Given the description of an element on the screen output the (x, y) to click on. 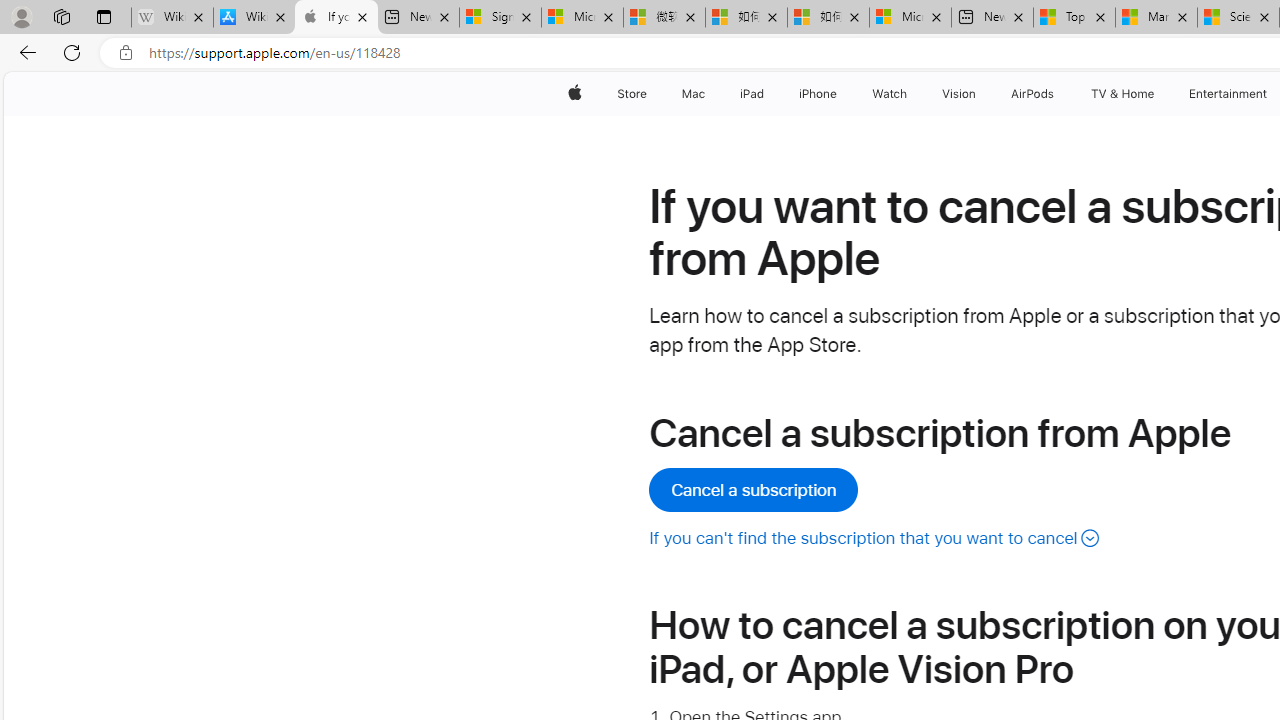
iPhone menu (840, 93)
iPad menu (767, 93)
Vision (959, 93)
